Given the description of an element on the screen output the (x, y) to click on. 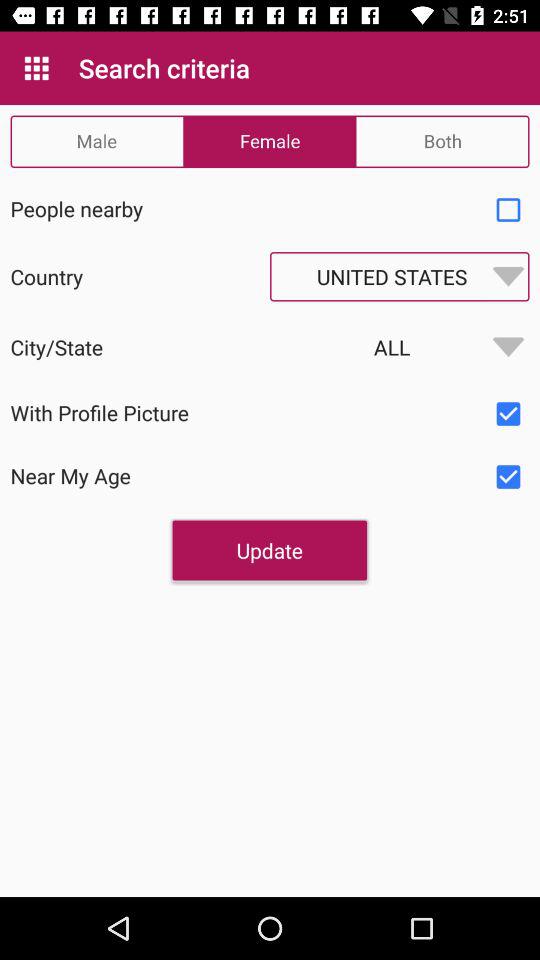
tap icon below with profile picture item (269, 549)
